Given the description of an element on the screen output the (x, y) to click on. 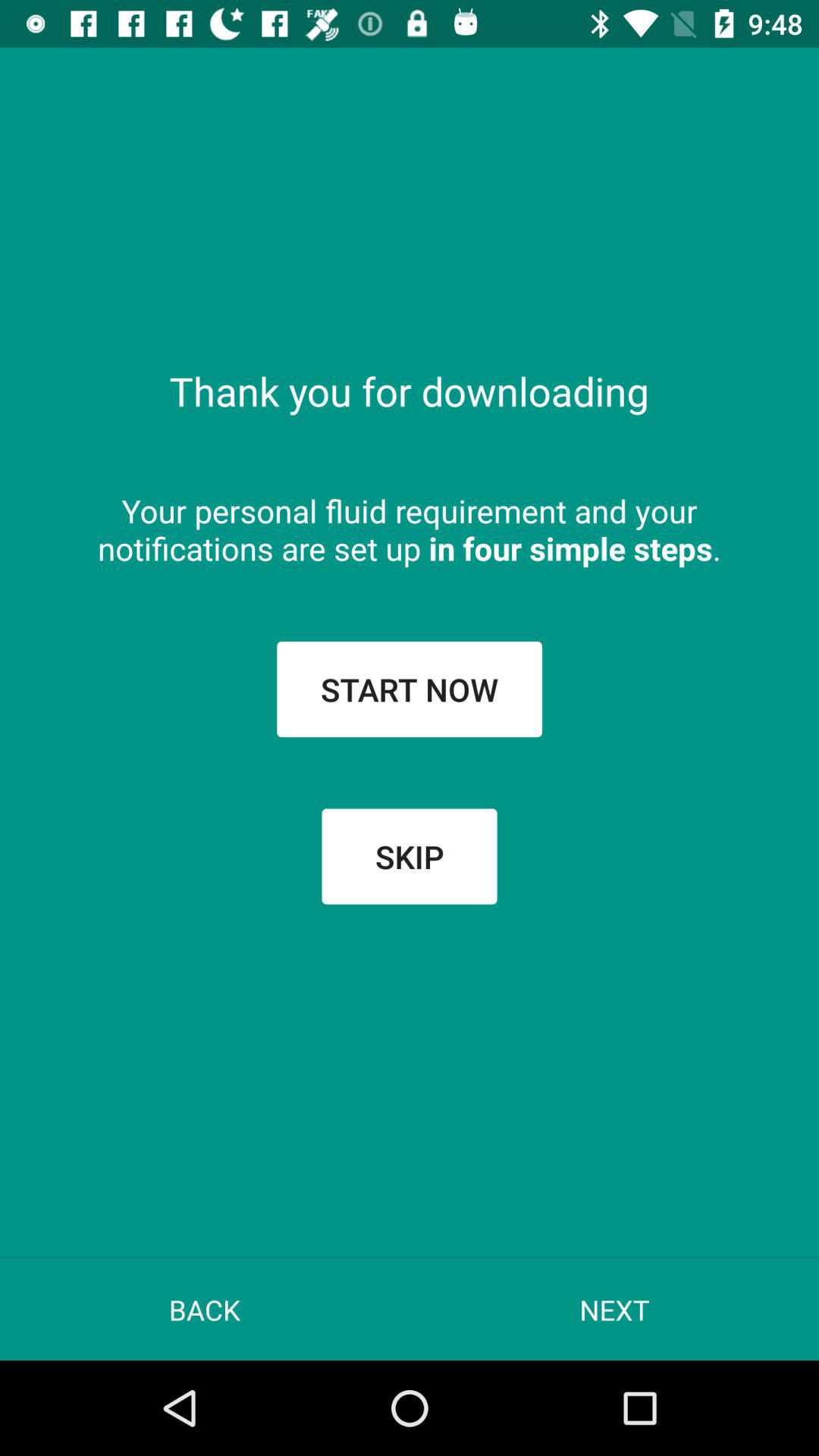
flip until the next app (614, 1309)
